Given the description of an element on the screen output the (x, y) to click on. 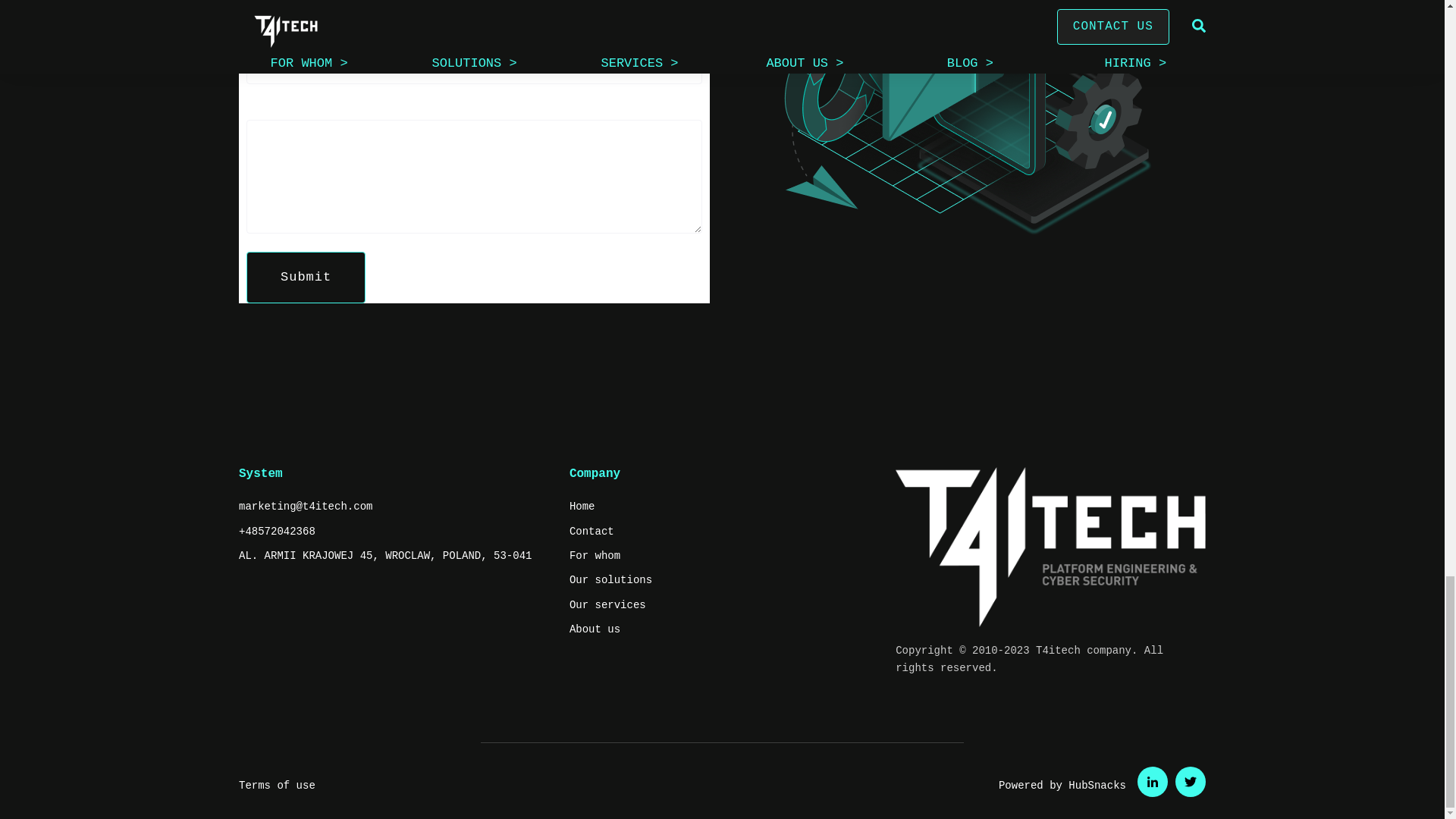
Our solutions (610, 580)
Contact (591, 530)
Submit (305, 277)
Home (582, 506)
Terms of use (276, 785)
AL. ARMII KRAJOWEJ 45, WROCLAW, POLAND, 53-041 (384, 555)
About us (594, 629)
Our services (607, 604)
For whom (594, 555)
Logo T4I tech white full (1050, 547)
Submit (305, 277)
